Given the description of an element on the screen output the (x, y) to click on. 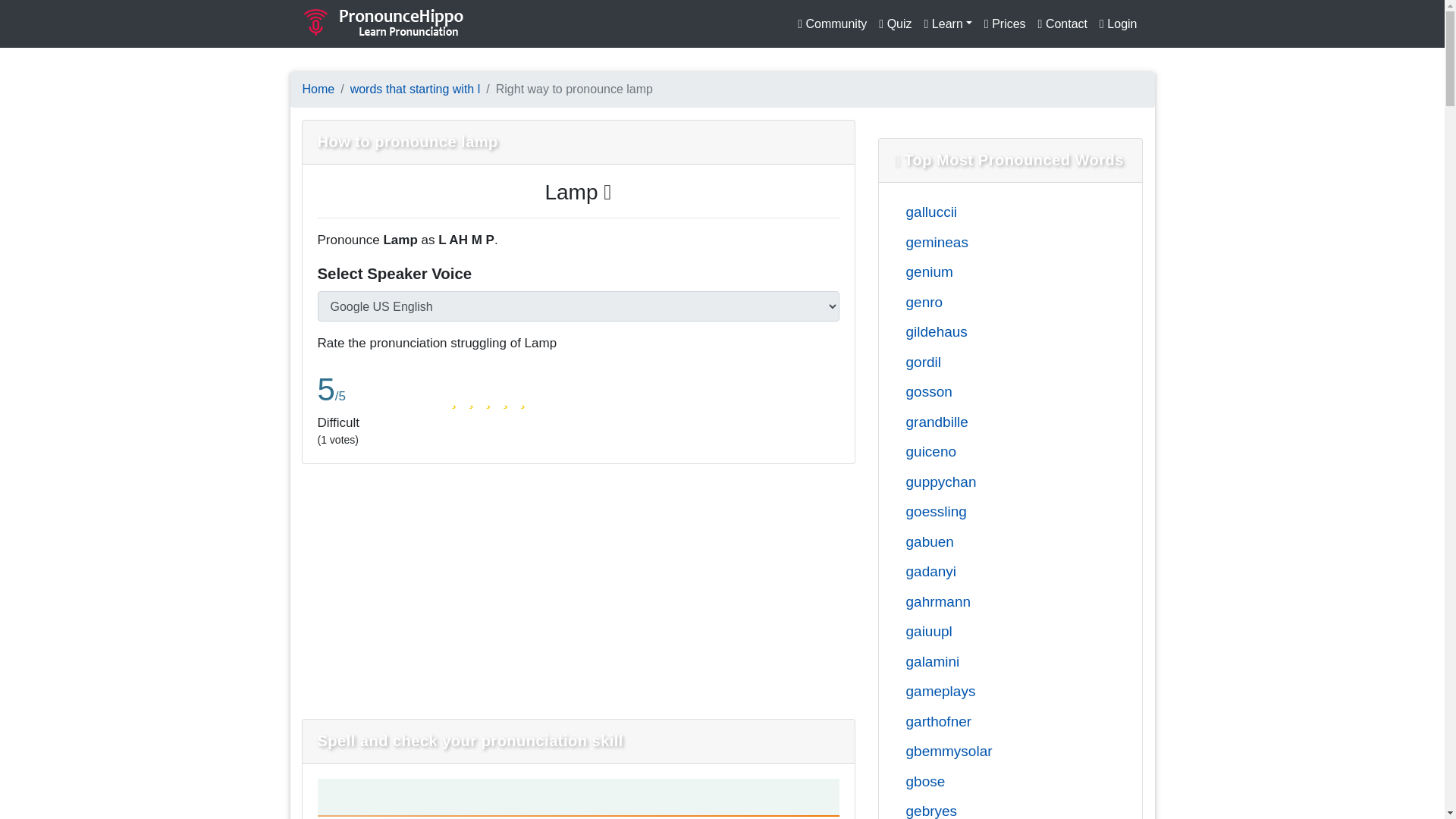
words that starting with l (415, 89)
Login (1117, 24)
Hear Lamp Pronunciation (577, 191)
Contact (1062, 24)
PronounceHippo.Com (384, 23)
Home (317, 89)
Prices (1005, 24)
Pronouncehippo Home Page (317, 89)
Learn (948, 24)
Pronunciation Dictionary (384, 21)
Quiz (894, 24)
Pronounce words that starting with l (415, 89)
Community (832, 24)
